Given the description of an element on the screen output the (x, y) to click on. 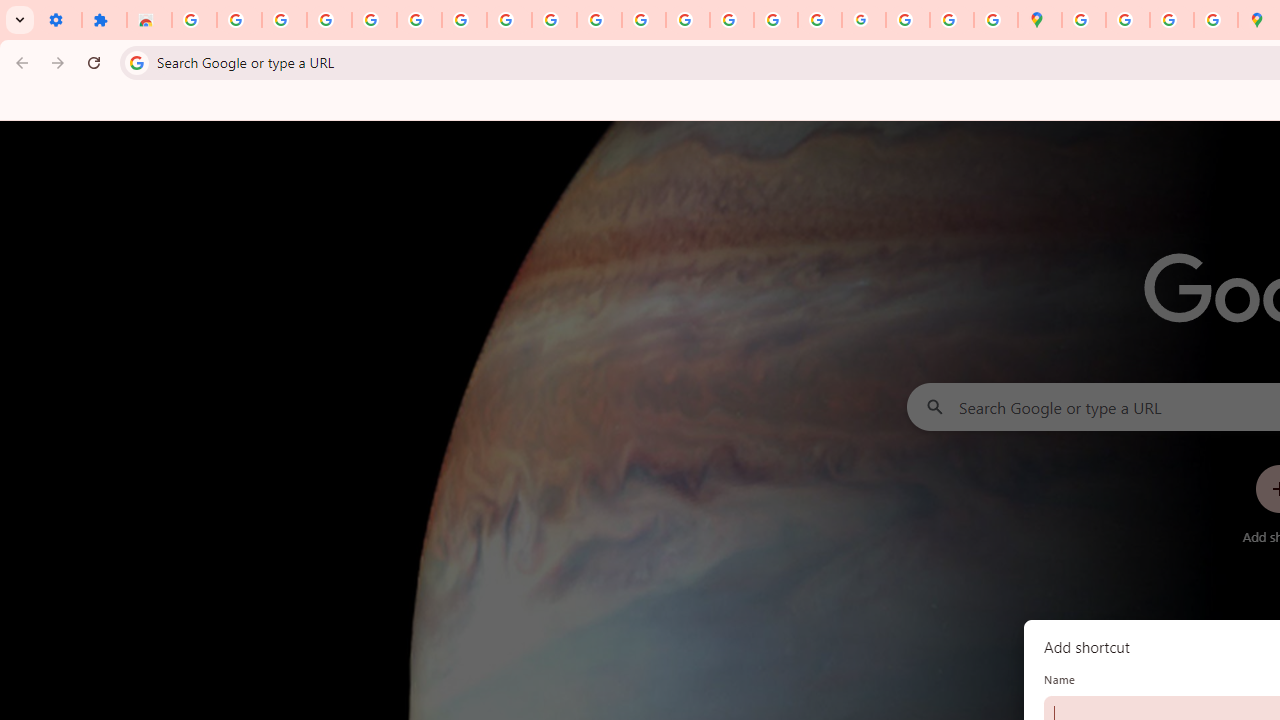
Delete photos & videos - Computer - Google Photos Help (239, 20)
Google Maps (1039, 20)
Privacy Help Center - Policies Help (687, 20)
